Given the description of an element on the screen output the (x, y) to click on. 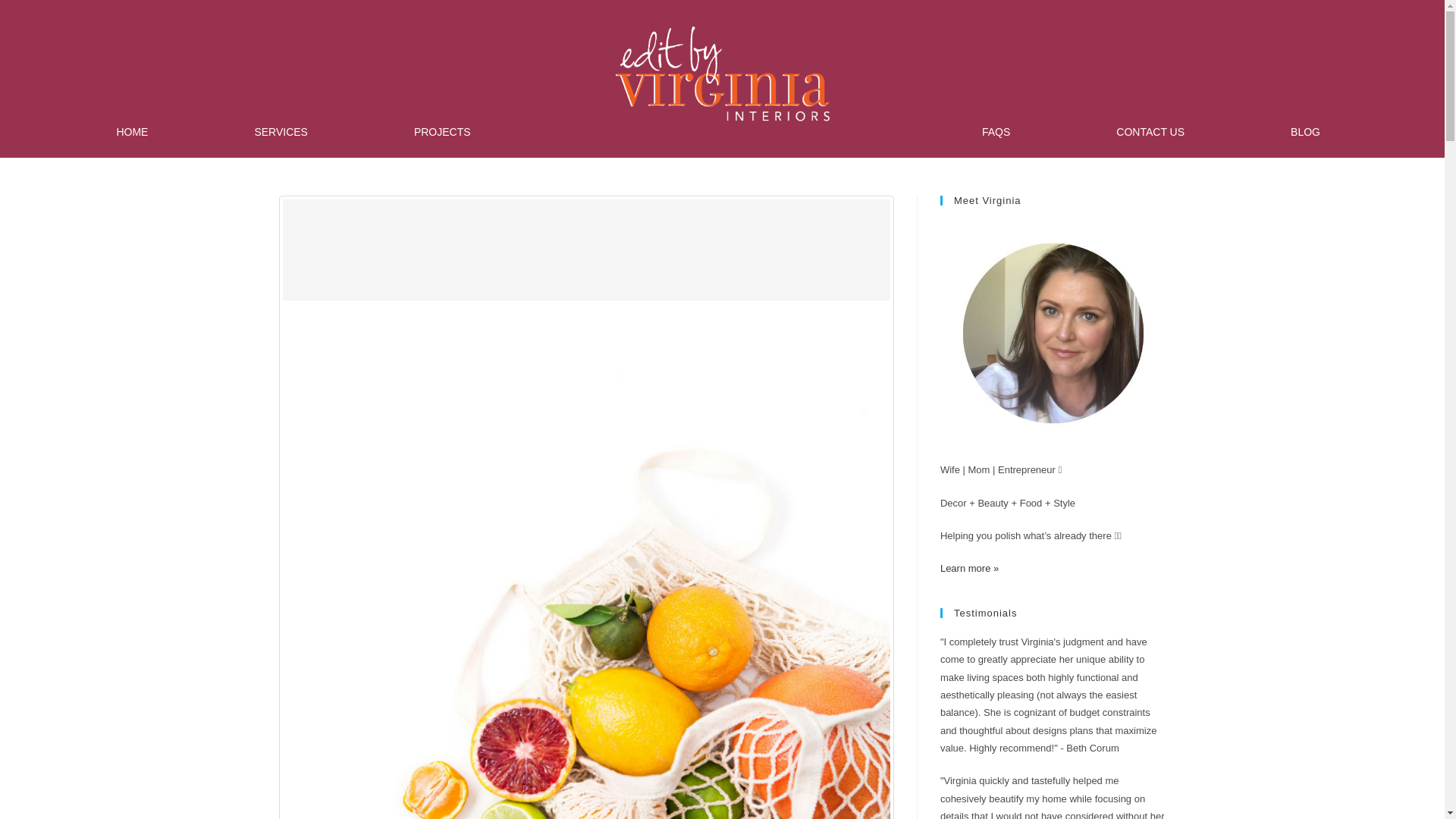
HOME (132, 131)
FAQS (995, 131)
SERVICES (280, 131)
CONTACT US (1150, 131)
BLOG (1305, 131)
PROJECTS (441, 131)
